Given the description of an element on the screen output the (x, y) to click on. 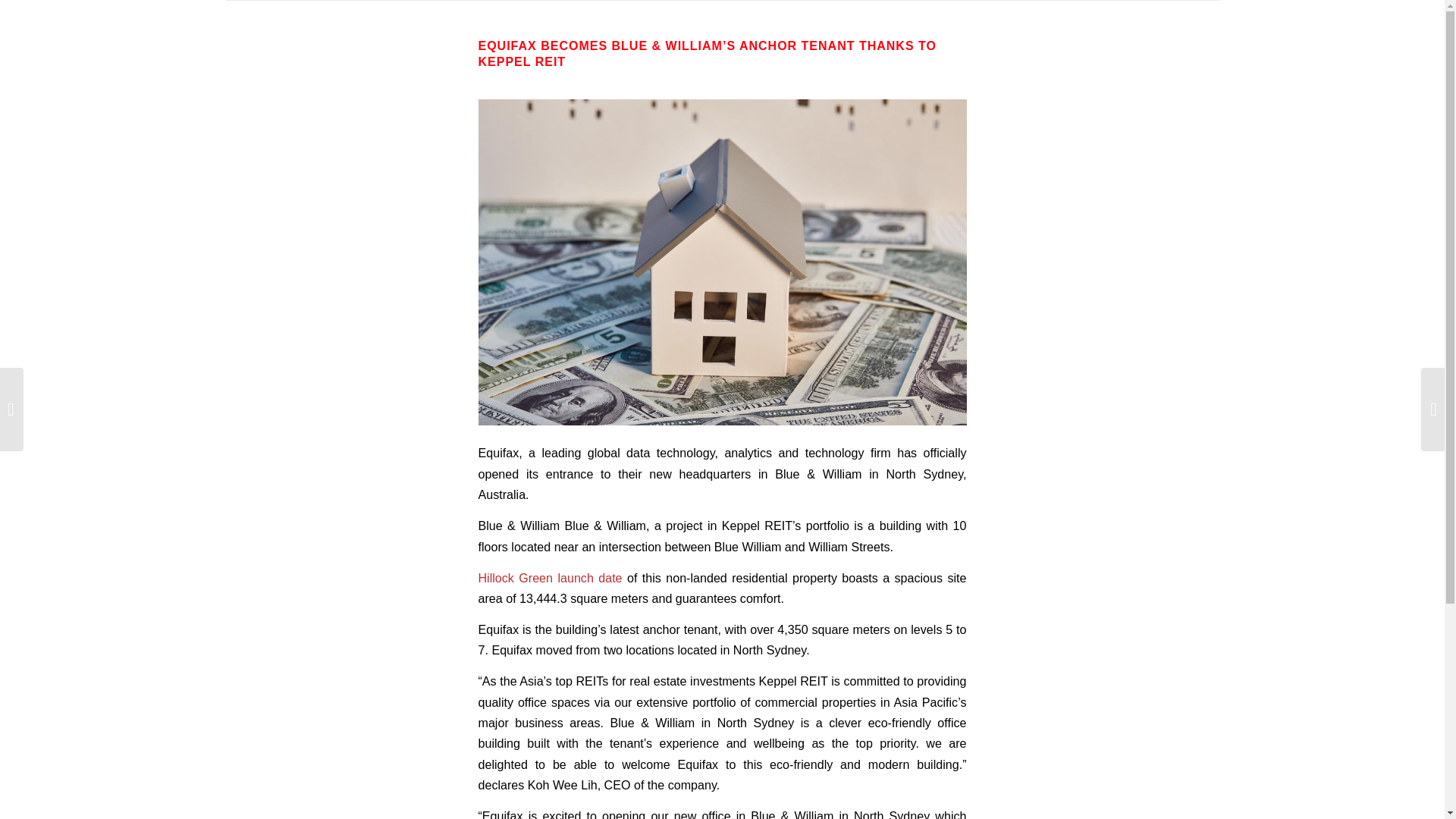
Hillock Green launch date (549, 577)
